Given the description of an element on the screen output the (x, y) to click on. 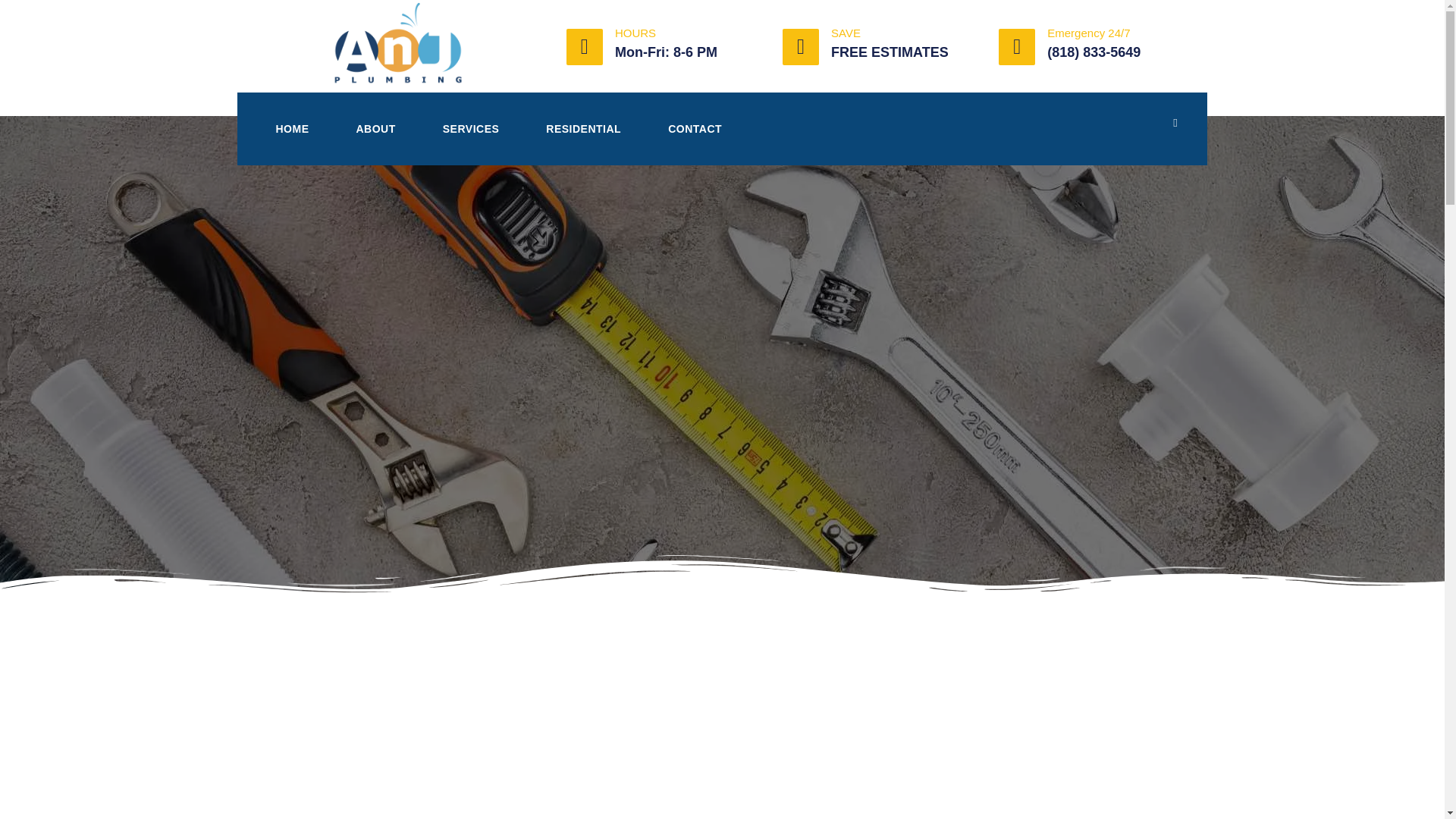
ABOUT (375, 128)
HOME (291, 128)
SERVICES (470, 128)
RESIDENTIAL (583, 128)
CONTACT (695, 128)
